Given the description of an element on the screen output the (x, y) to click on. 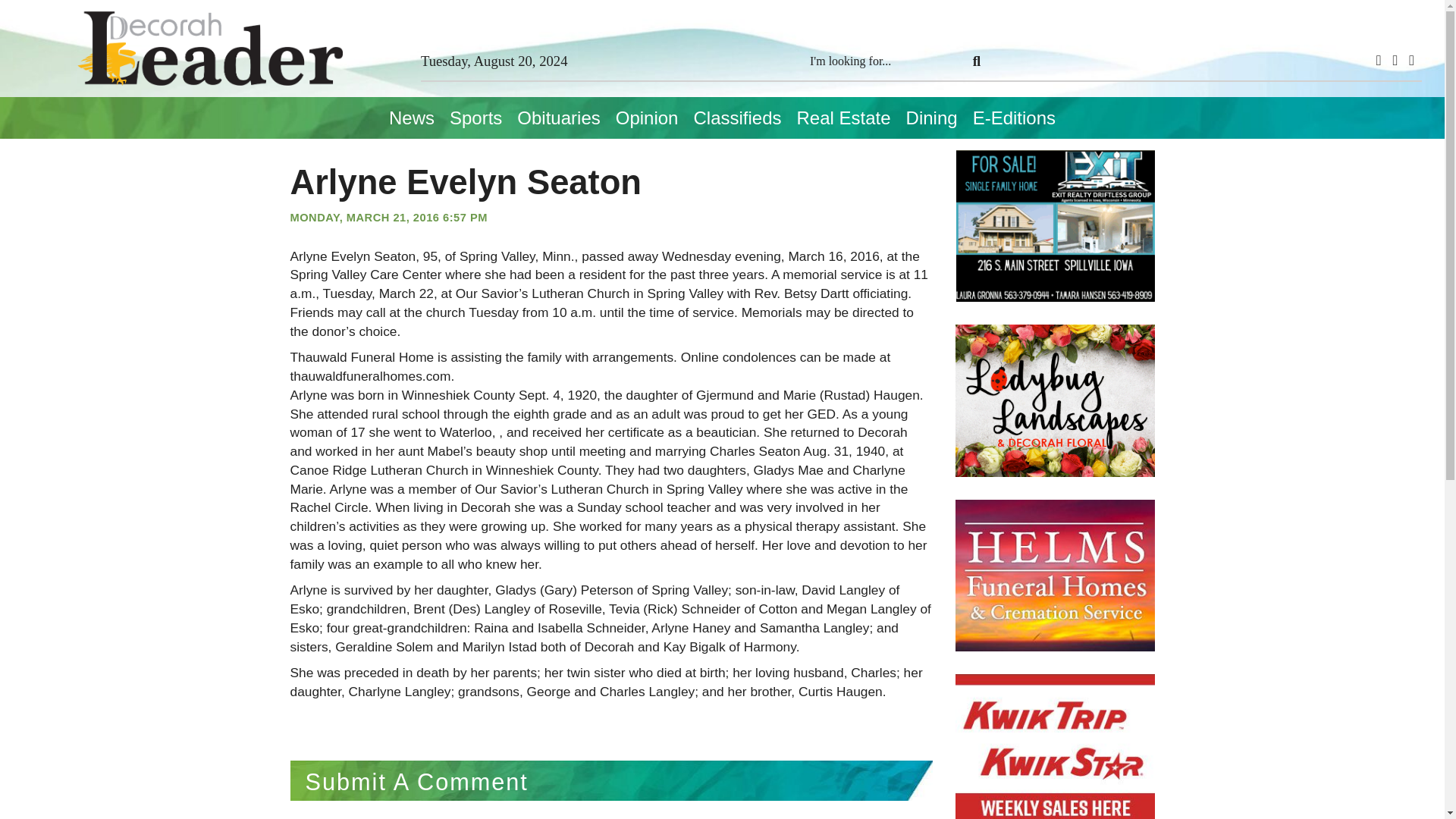
Dining (931, 117)
E-Editions (1013, 117)
News (411, 117)
Decorah Leader Logo (209, 48)
Classifieds (737, 117)
Sports (475, 117)
Obituaries (558, 117)
Search for: (884, 61)
Real Estate (843, 117)
Opinion (646, 117)
